Given the description of an element on the screen output the (x, y) to click on. 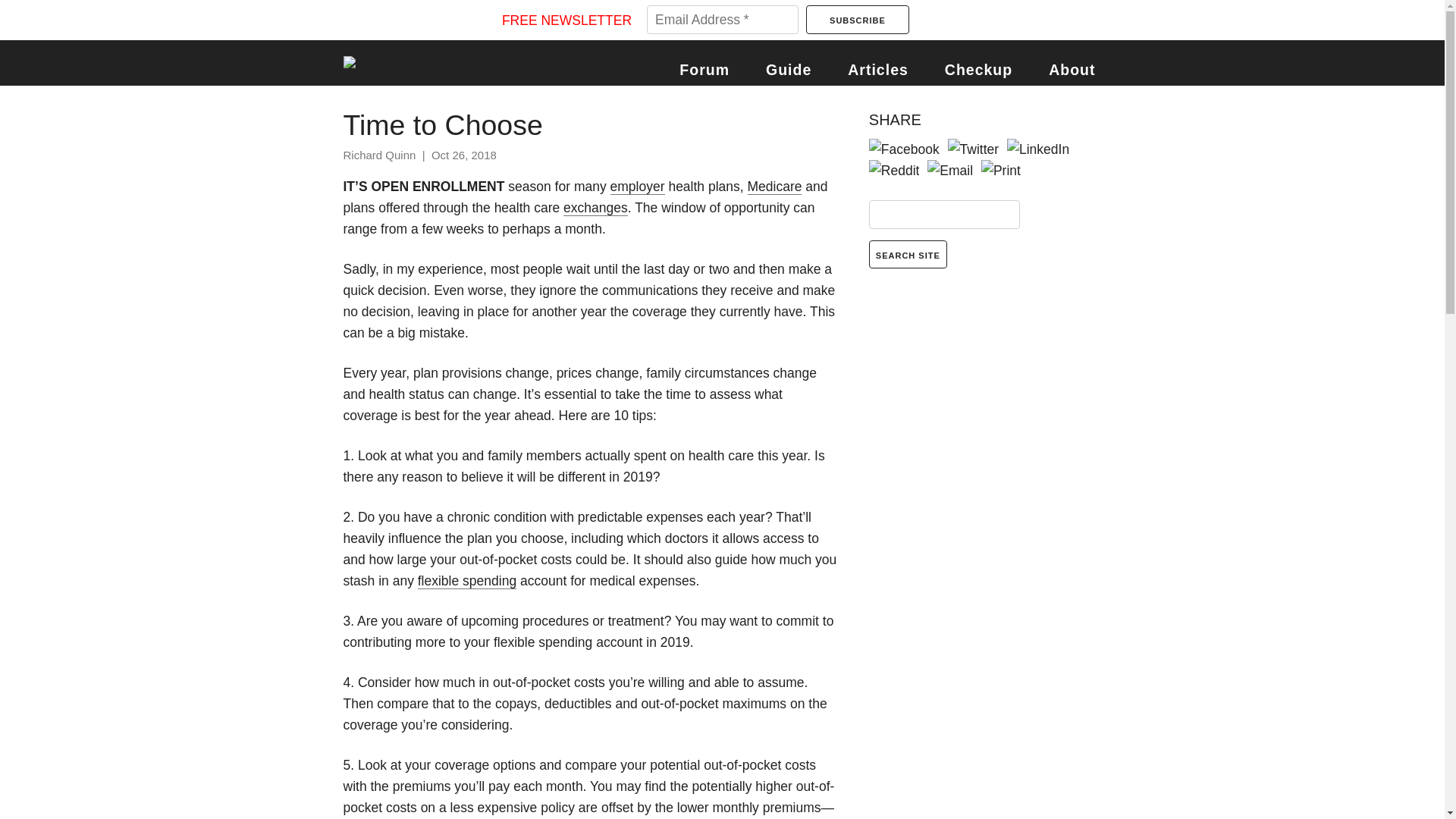
Search Site (908, 254)
Subscribe (857, 19)
Articles (877, 69)
Subscribe (857, 19)
About (1071, 69)
flexible spending (466, 580)
Checkup (977, 69)
Guide (787, 69)
employer (637, 186)
exchanges (595, 207)
